Given the description of an element on the screen output the (x, y) to click on. 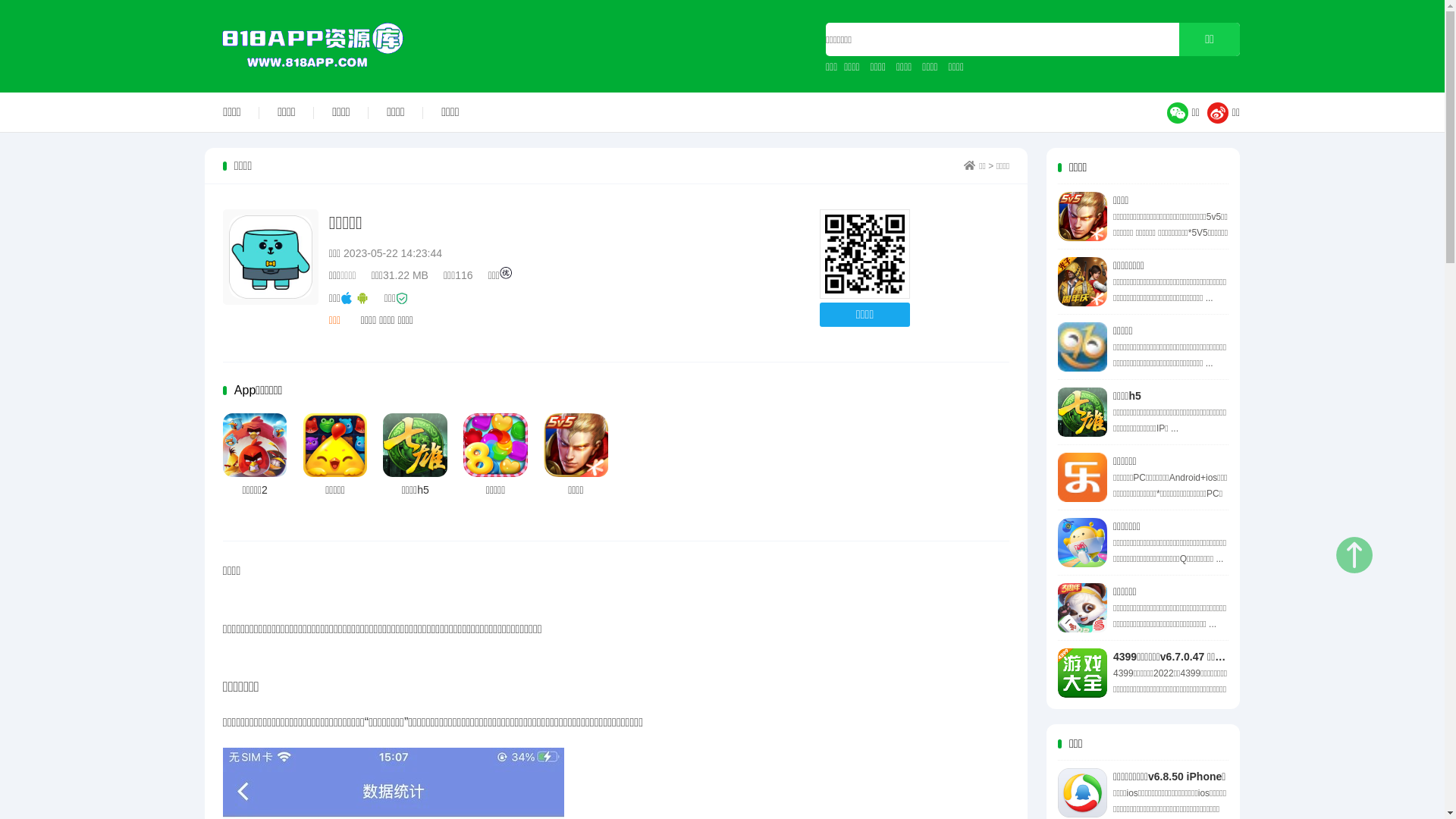
http://www.818app.com Element type: hover (864, 254)
